Given the description of an element on the screen output the (x, y) to click on. 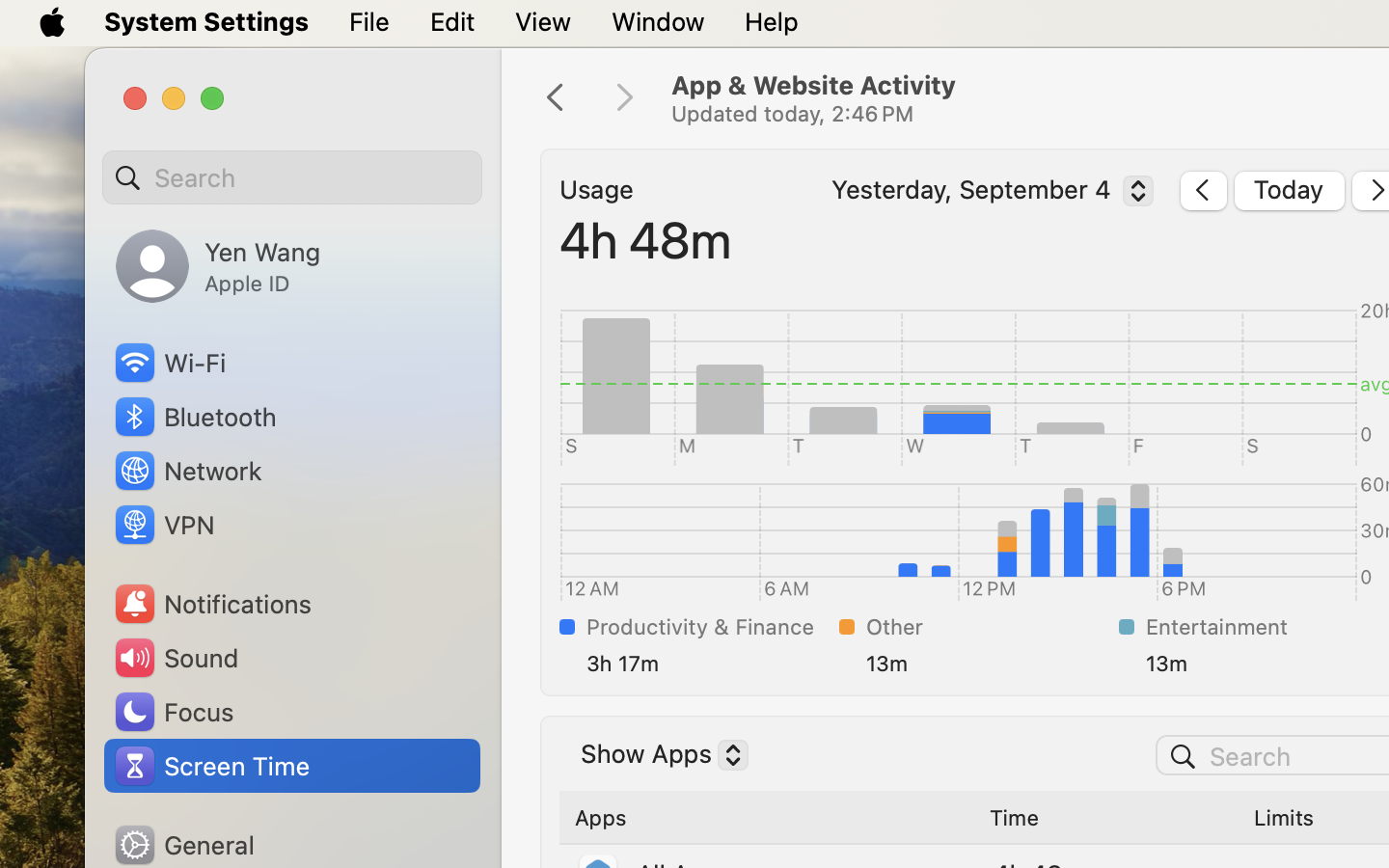
Other Element type: AXStaticText (988, 626)
Show Apps Element type: AXPopUpButton (656, 756)
Screen Time Element type: AXStaticText (210, 765)
13m Element type: AXStaticText (988, 663)
3h 17m Element type: AXStaticText (708, 663)
